Given the description of an element on the screen output the (x, y) to click on. 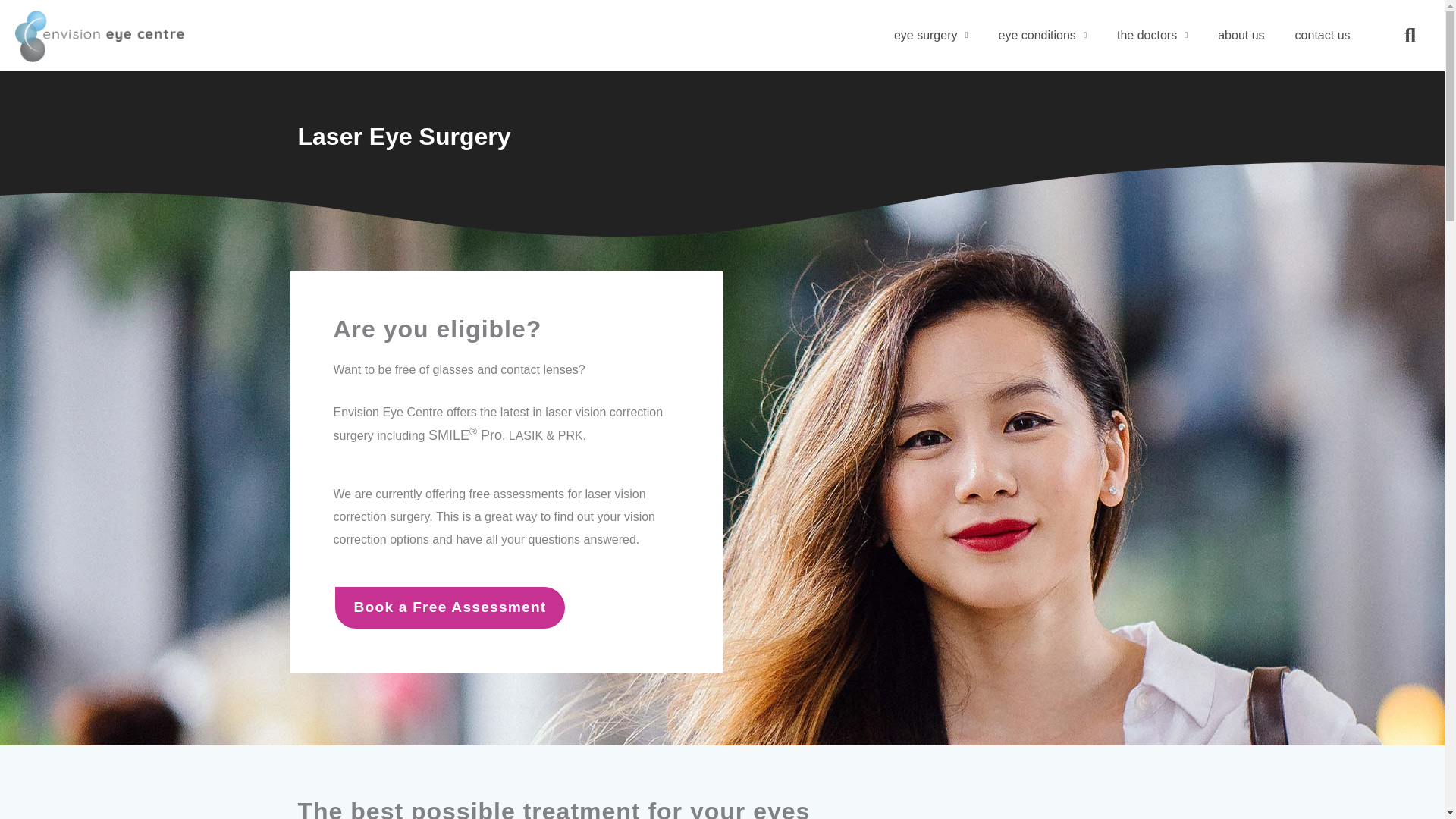
contact us (1322, 35)
eye surgery (931, 35)
eye conditions (1043, 35)
about us (1240, 35)
the doctors (1152, 35)
